Given the description of an element on the screen output the (x, y) to click on. 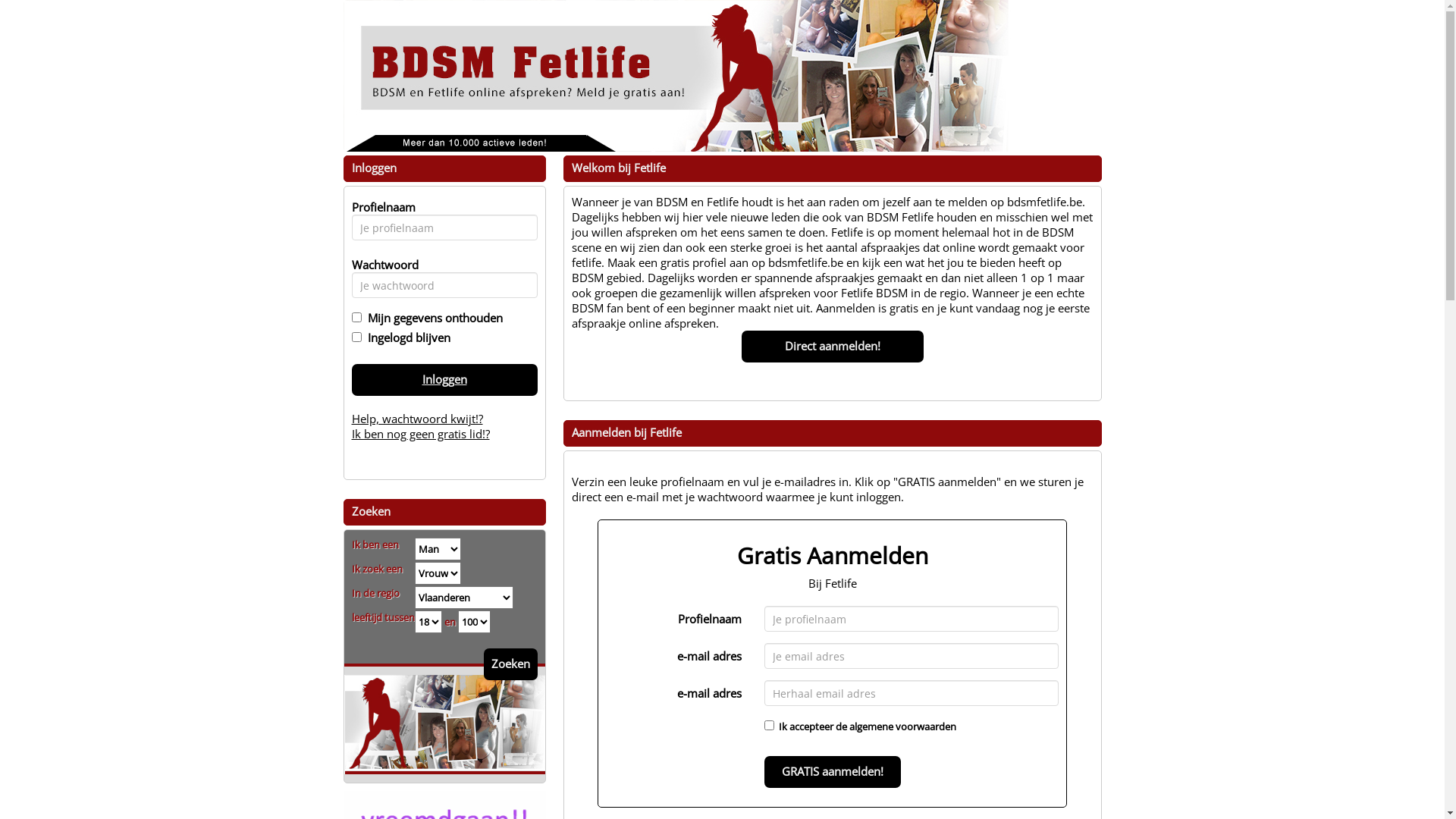
Direct aanmelden! Element type: text (832, 346)
Zoeken Element type: text (510, 664)
algemene voorwaarden Element type: text (902, 726)
Help, wachtwoord kwijt!? Element type: text (417, 418)
Inloggen Element type: text (444, 379)
Ik ben nog geen gratis lid!? Element type: text (420, 433)
GRATIS aanmelden! Element type: text (832, 771)
